Given the description of an element on the screen output the (x, y) to click on. 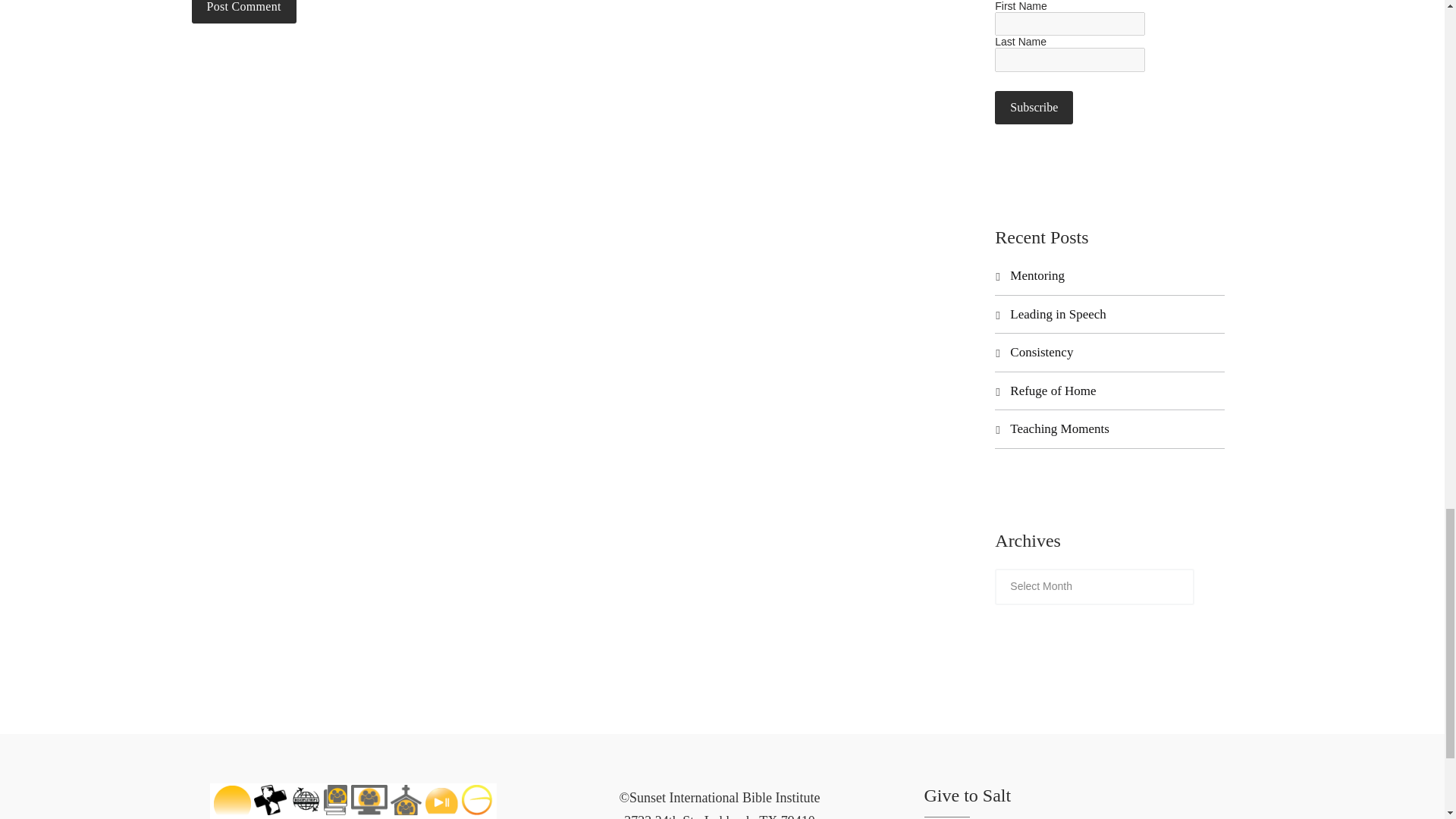
Post Comment (242, 11)
DiscipleTrips (304, 799)
Sunset Church (477, 799)
SIBI (232, 799)
Satellite Schools (406, 799)
SunsetOnline (368, 799)
Subscribe (1033, 107)
Sunset App (441, 799)
AIM (269, 799)
Post Comment (242, 11)
